Given the description of an element on the screen output the (x, y) to click on. 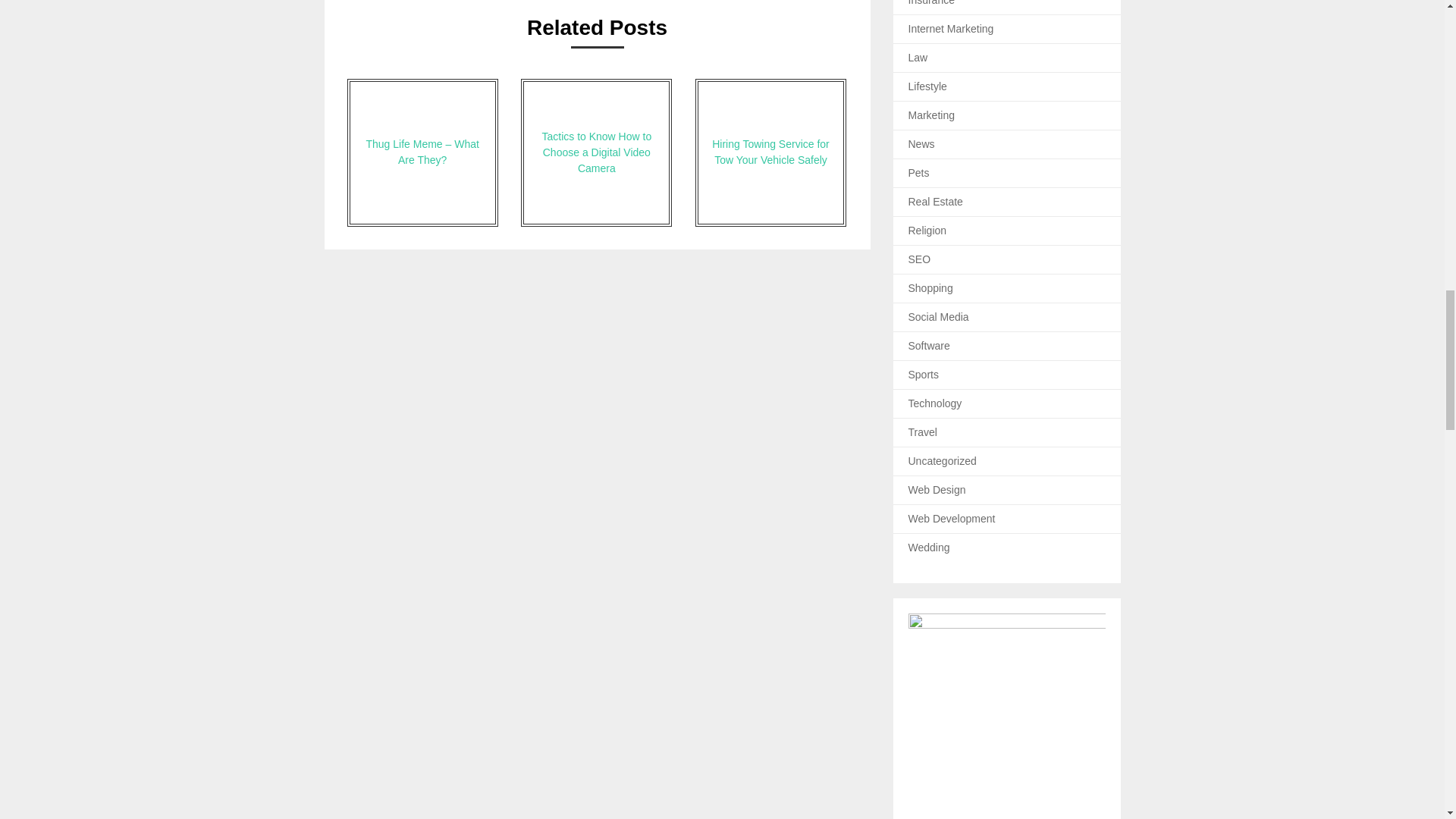
News (921, 143)
Tactics to Know How to Choose a Digital Video Camera (596, 152)
Real Estate (935, 201)
Internet Marketing (951, 28)
Hiring Towing Service for Tow Your Vehicle Safely (770, 152)
Marketing (931, 114)
Hiring Towing Service for Tow Your Vehicle Safely (770, 152)
Lifestyle (927, 86)
Insurance (931, 2)
Law (918, 57)
Pets (919, 173)
Tactics to Know How to Choose a Digital Video Camera (596, 152)
